Given the description of an element on the screen output the (x, y) to click on. 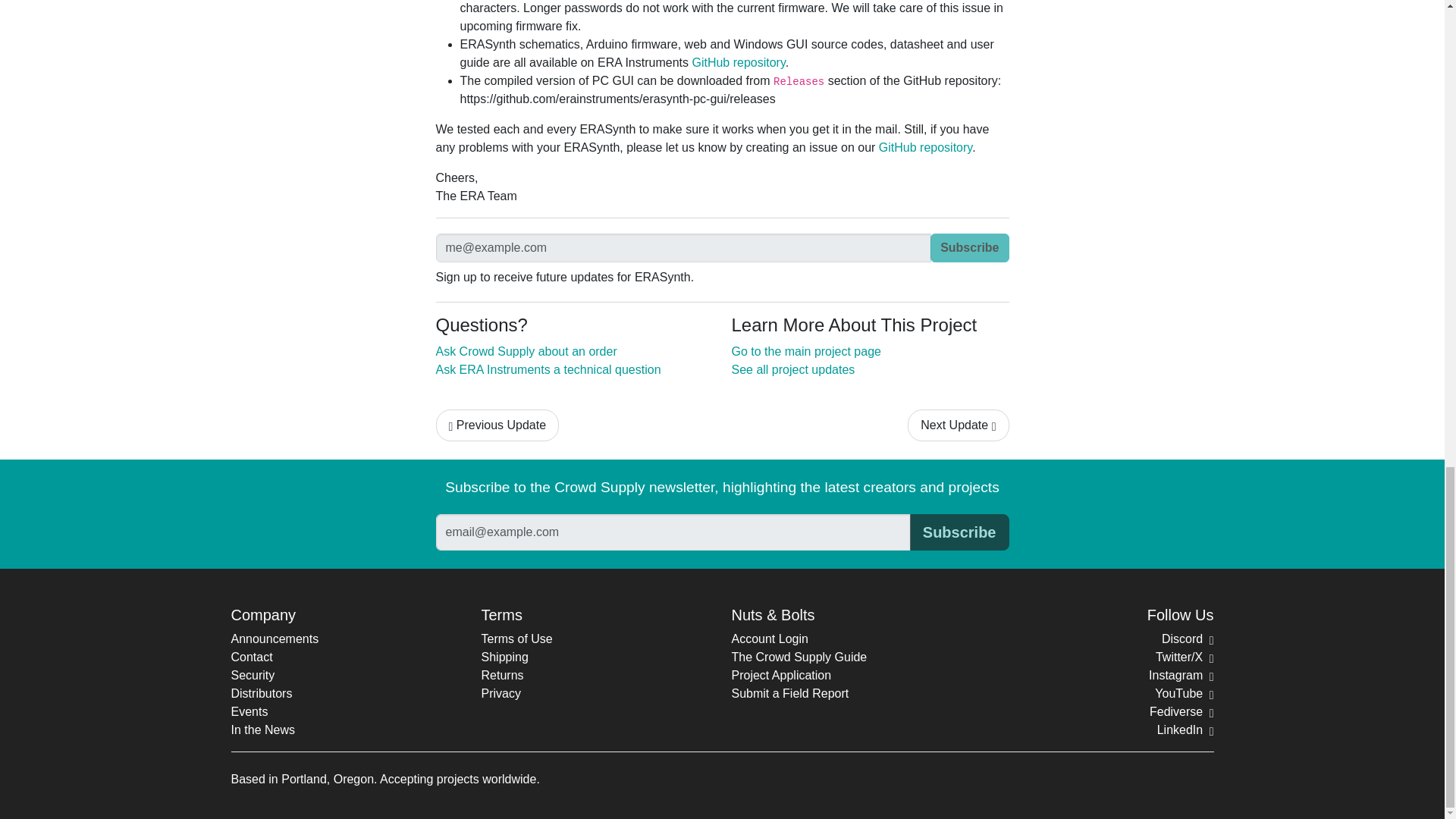
The Crowd Supply Guide (798, 656)
Account Login (769, 638)
Fediverse (1182, 711)
In the News (262, 729)
Terms of Use (515, 638)
Discord (1187, 638)
Distributors (261, 693)
LinkedIn (1185, 729)
Ask Crowd Supply about an order (525, 350)
Previous Update (497, 425)
